Given the description of an element on the screen output the (x, y) to click on. 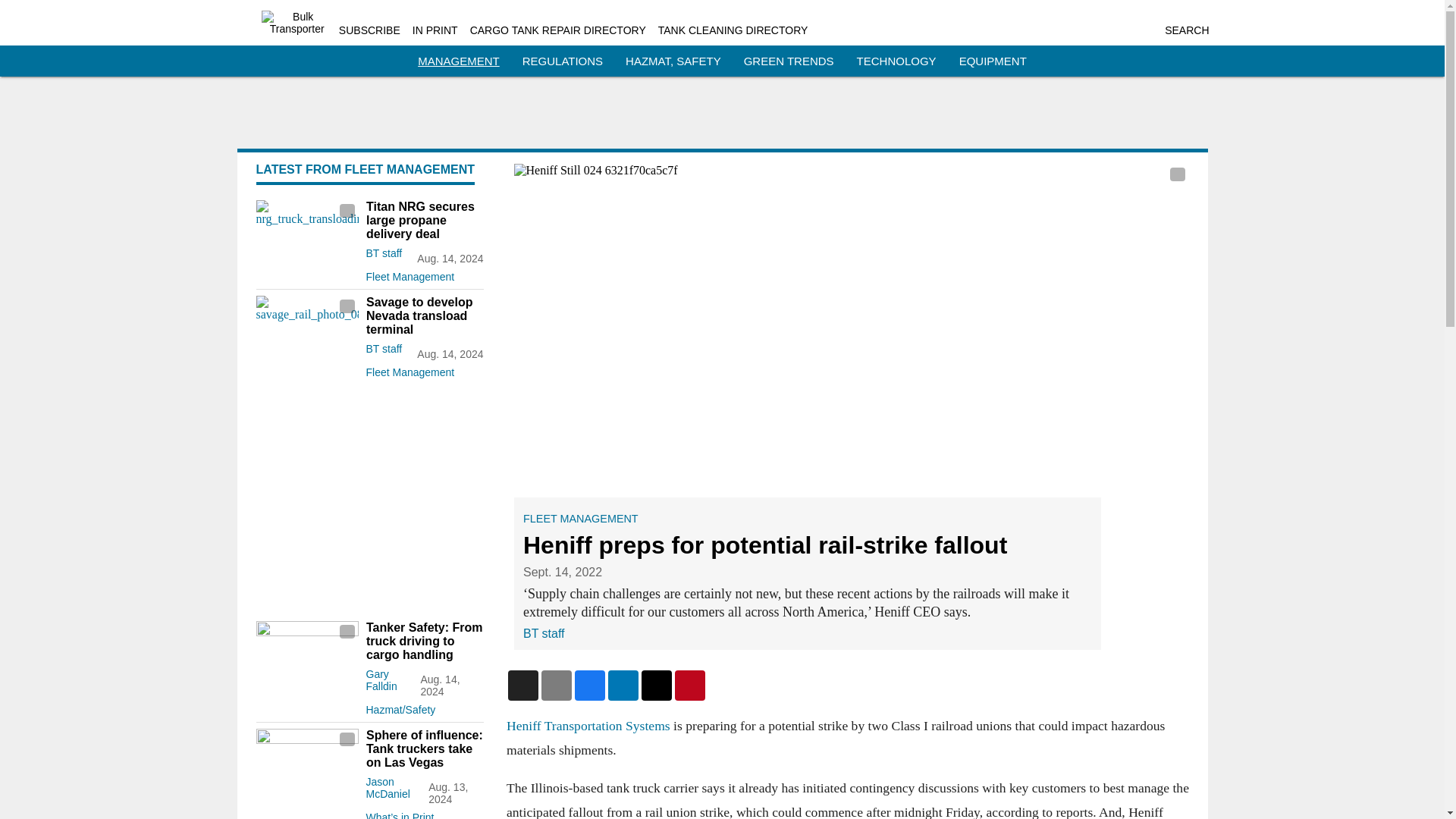
TECHNOLOGY (896, 60)
Titan NRG secures large propane delivery deal (424, 219)
CARGO TANK REPAIR DIRECTORY (558, 30)
IN PRINT (435, 30)
Tanker Safety: From truck driving to cargo handling (424, 640)
MANAGEMENT (458, 60)
SUBSCRIBE (369, 30)
Savage to develop Nevada transload terminal (424, 315)
Fleet Management (424, 273)
